Given the description of an element on the screen output the (x, y) to click on. 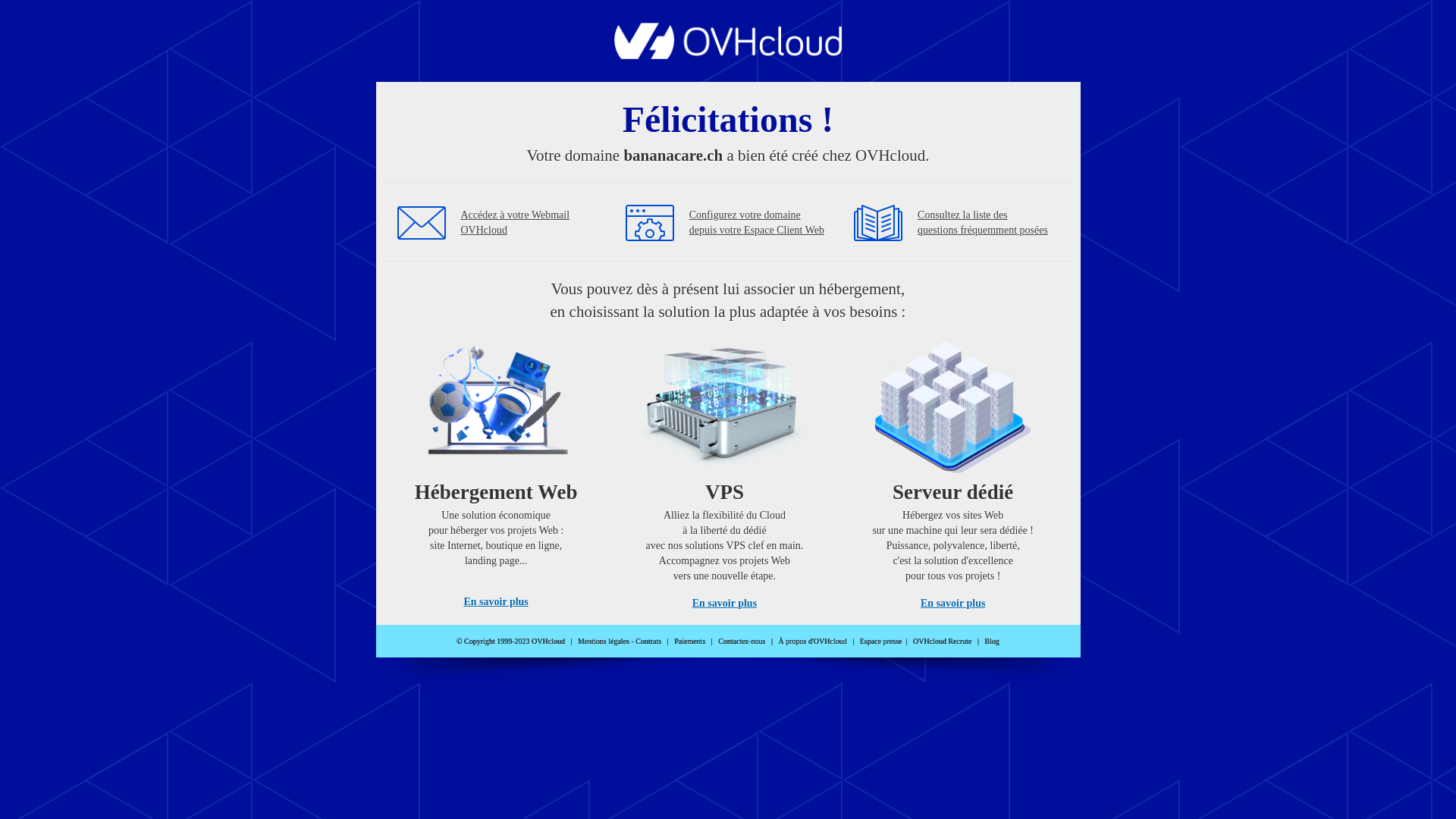
OVHcloud Element type: hover (727, 54)
Blog Element type: text (992, 641)
En savoir plus Element type: text (952, 602)
VPS Element type: hover (724, 469)
Paiements Element type: text (689, 641)
Espace presse Element type: text (880, 641)
Contactez-nous Element type: text (741, 641)
En savoir plus Element type: text (495, 601)
OVHcloud Recrute Element type: text (942, 641)
Configurez votre domaine
depuis votre Espace Client Web Element type: text (756, 222)
En savoir plus Element type: text (724, 602)
